Given the description of an element on the screen output the (x, y) to click on. 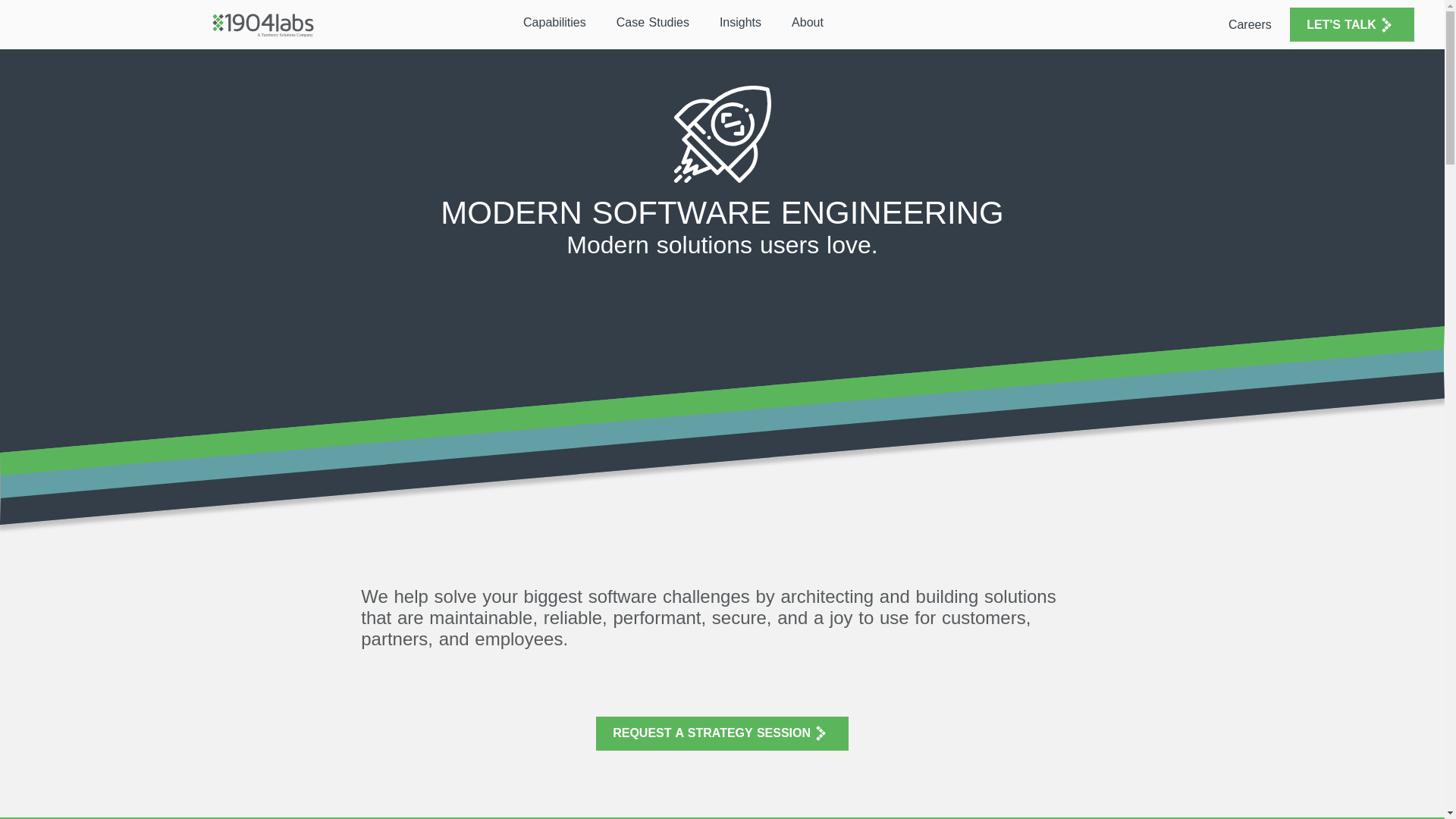
REQUEST A STRATEGY SESSION (721, 733)
Insights (744, 22)
About (812, 22)
Capabilities (558, 22)
Careers (1249, 24)
Case Studies (656, 22)
LET'S TALK (1351, 24)
